Given the description of an element on the screen output the (x, y) to click on. 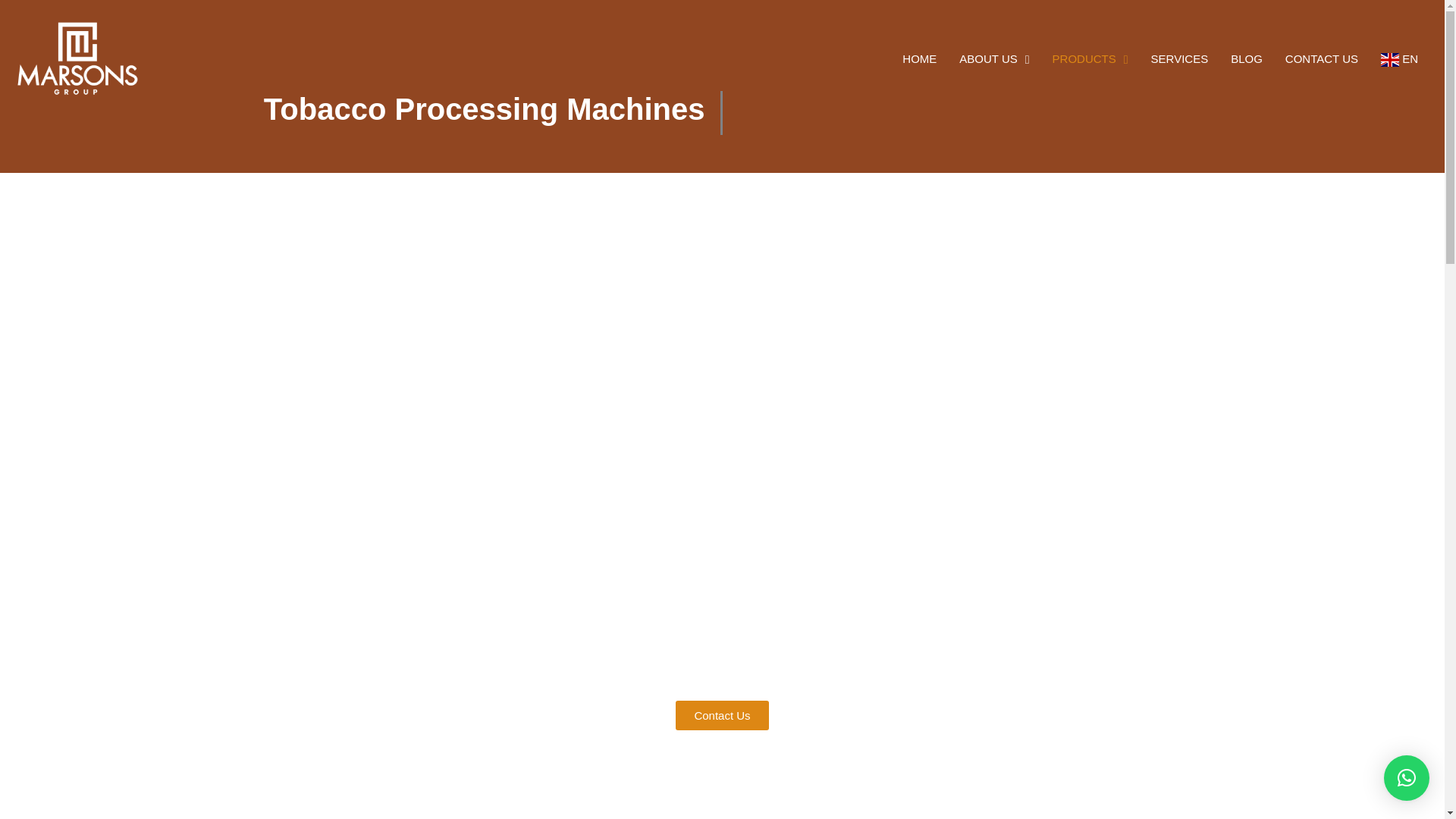
HOME (919, 58)
BLOG (1247, 58)
EN (1399, 58)
PRODUCTS (1090, 58)
Contact Us (721, 715)
CONTACT US (1322, 58)
SERVICES (1180, 58)
ABOUT US (994, 58)
